Given the description of an element on the screen output the (x, y) to click on. 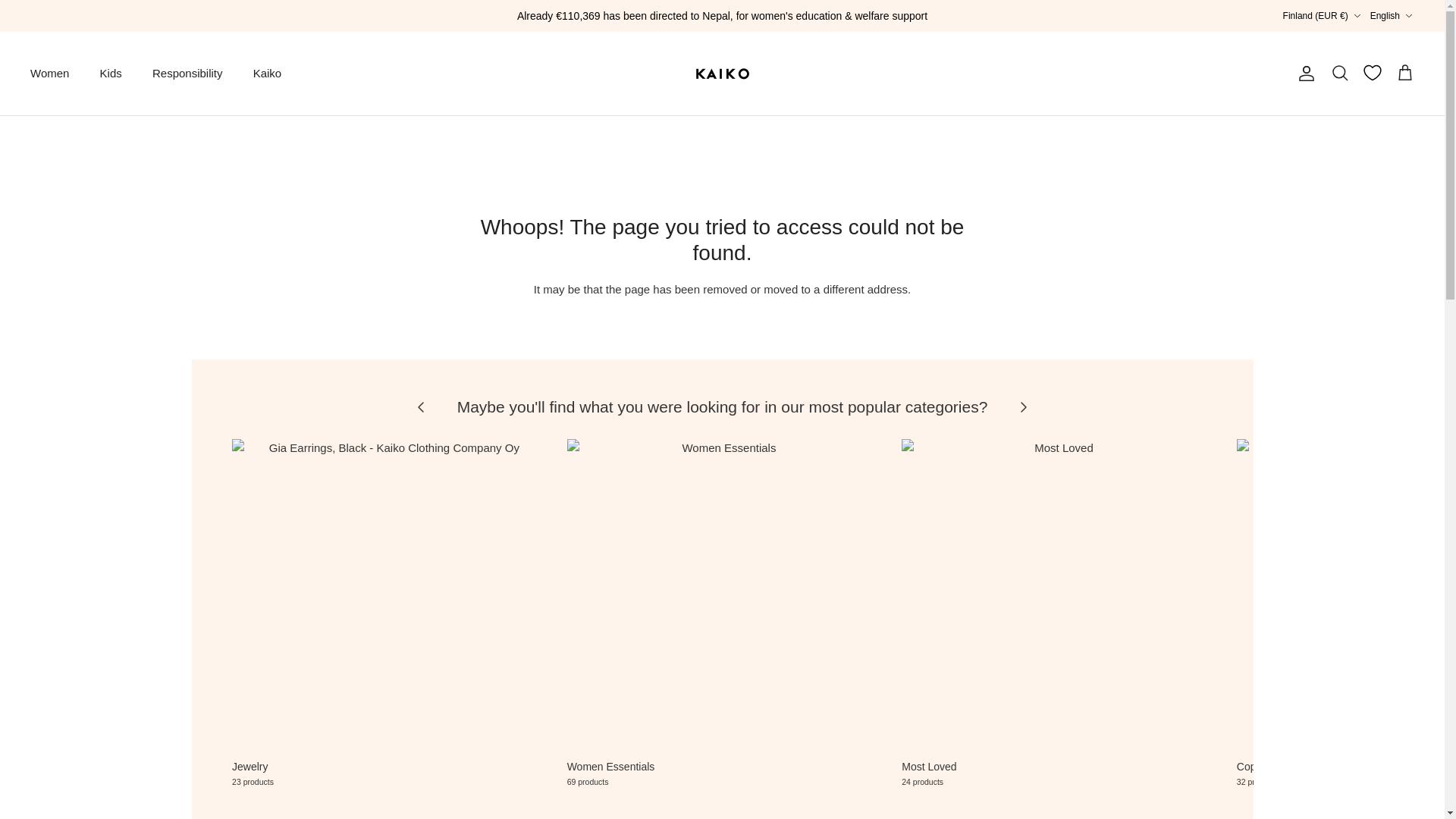
Kaiko Clothing Company Oy (722, 72)
Down (1357, 15)
Down (1408, 15)
